Given the description of an element on the screen output the (x, y) to click on. 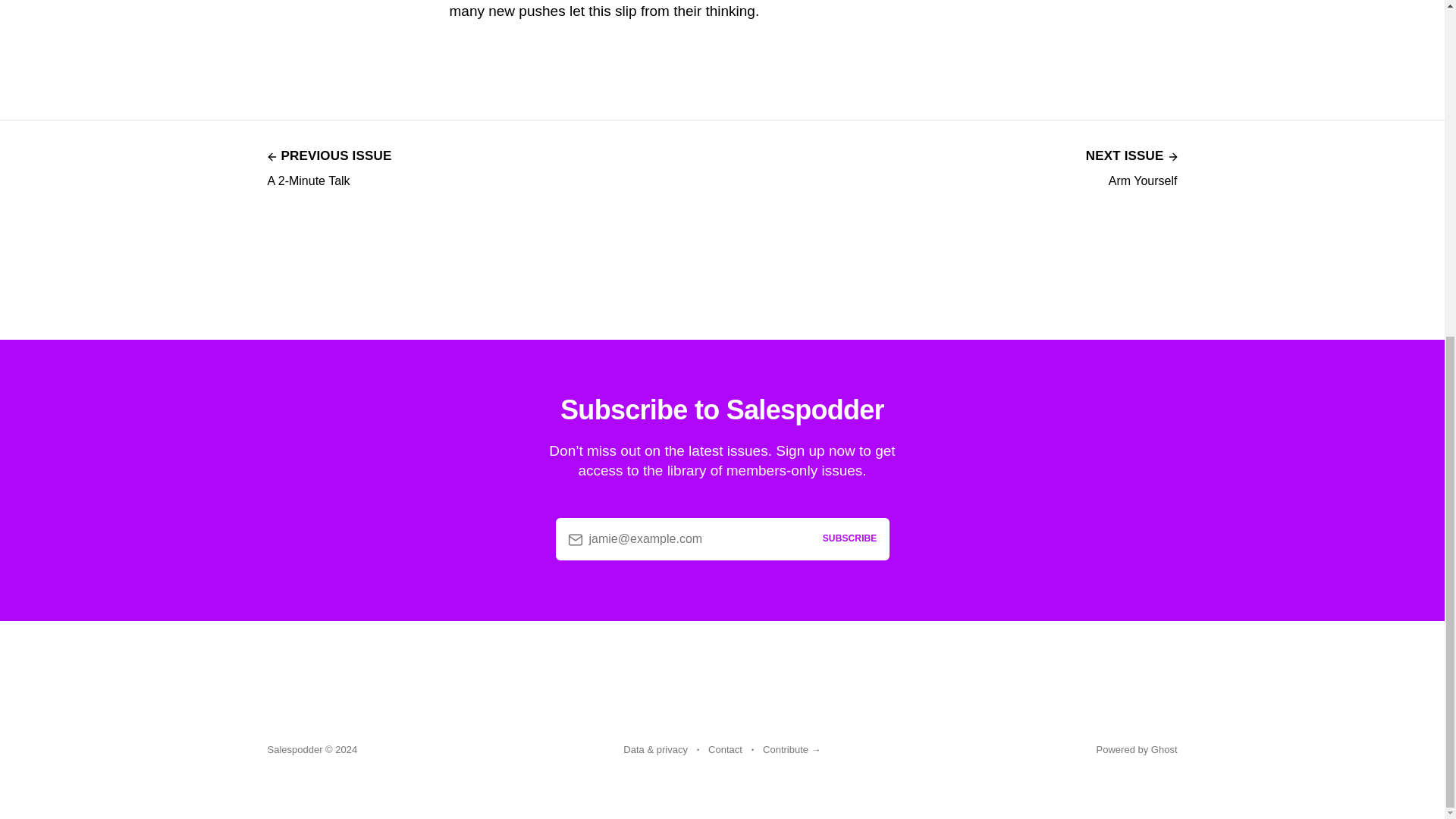
Contact (724, 750)
Powered by Ghost (1131, 166)
